Given the description of an element on the screen output the (x, y) to click on. 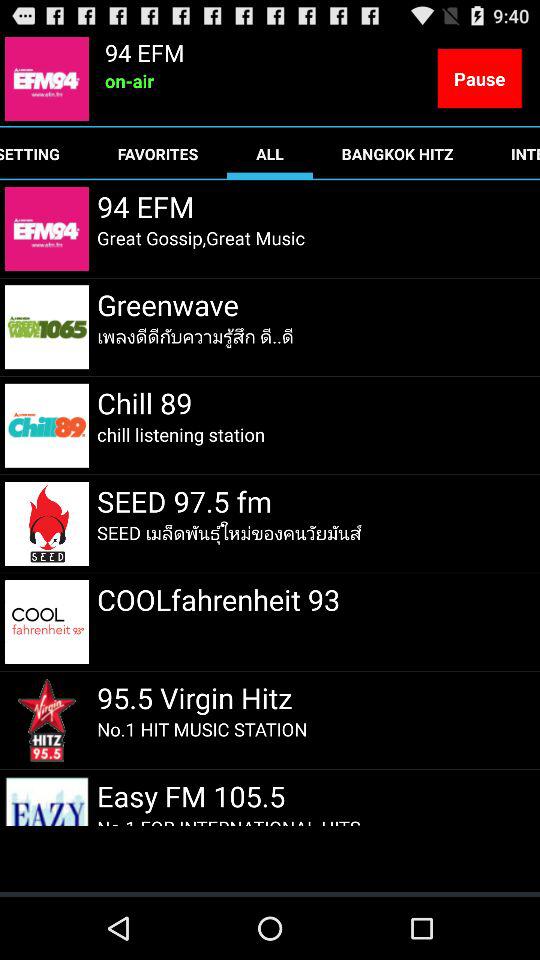
select the item below the no 1 hit item (194, 795)
